Given the description of an element on the screen output the (x, y) to click on. 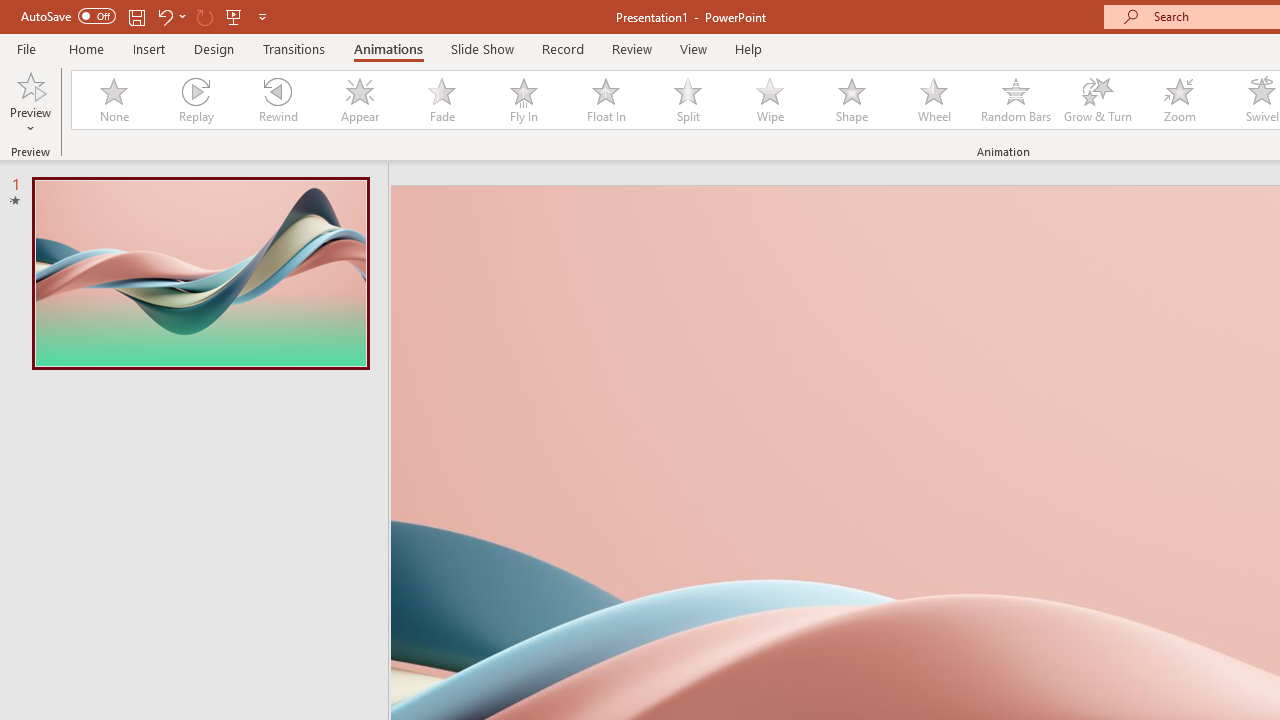
Preview (30, 84)
Fly In (523, 100)
Design (214, 48)
Preview (30, 102)
Float In (605, 100)
More Options (30, 121)
Split (687, 100)
Record (562, 48)
Animations (388, 48)
Save (136, 15)
